Given the description of an element on the screen output the (x, y) to click on. 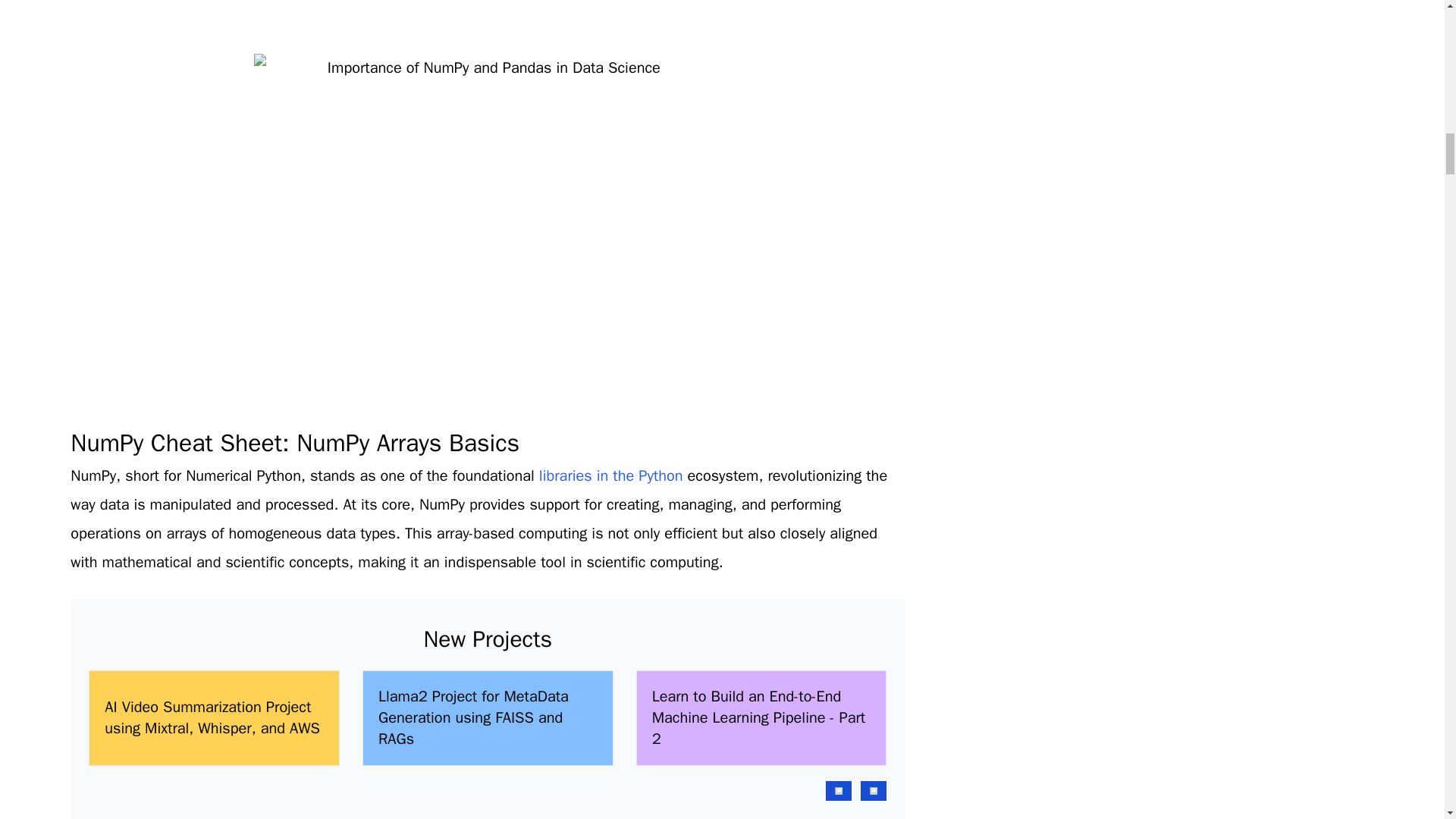
libraries in the Python (610, 475)
Llama2 Project for MetaData Generation using FAISS and RAGs (487, 718)
libraries in the Python (610, 475)
